Given the description of an element on the screen output the (x, y) to click on. 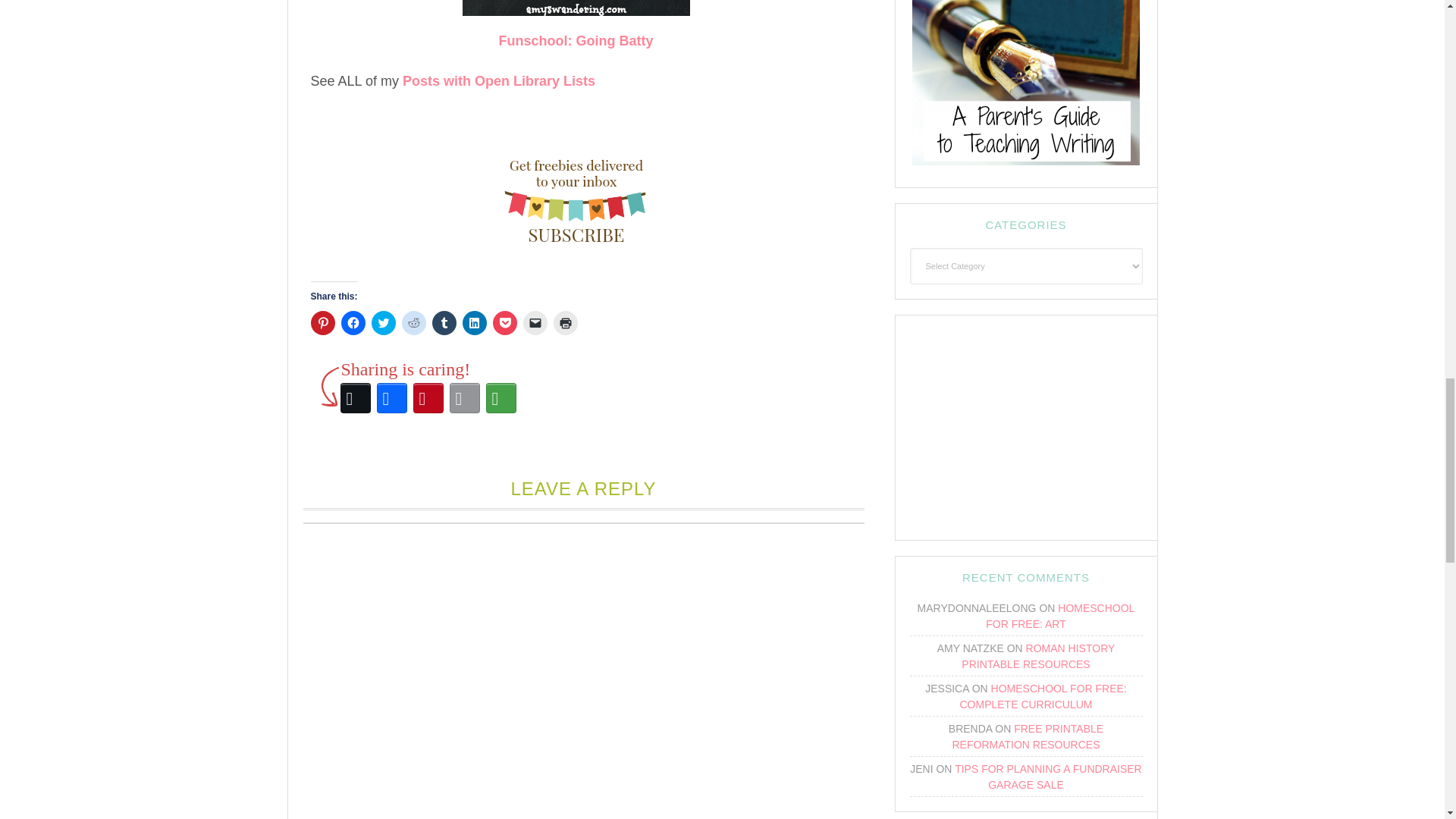
Click to share on Twitter (383, 322)
Funschool: Going Batty (576, 40)
Click to email a link to a friend (534, 322)
Click to share on Reddit (413, 322)
Click to print (565, 322)
Posts with Open Library Lists (499, 79)
Click to share on Pinterest (322, 322)
Click to share on Facebook (352, 322)
Click to share on Pocket (504, 322)
Click to share on Tumblr (444, 322)
